Given the description of an element on the screen output the (x, y) to click on. 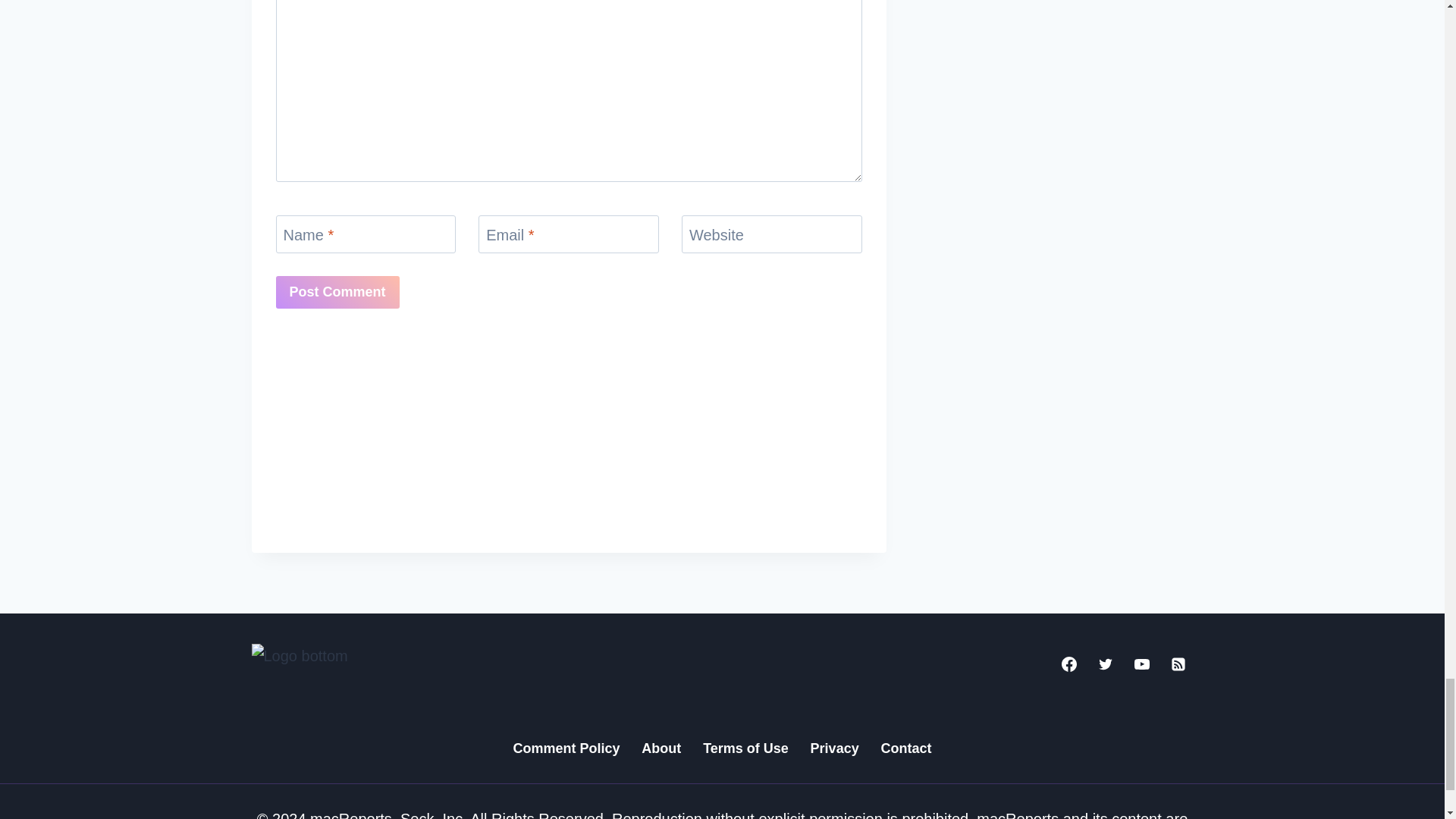
Post Comment (337, 292)
